Given the description of an element on the screen output the (x, y) to click on. 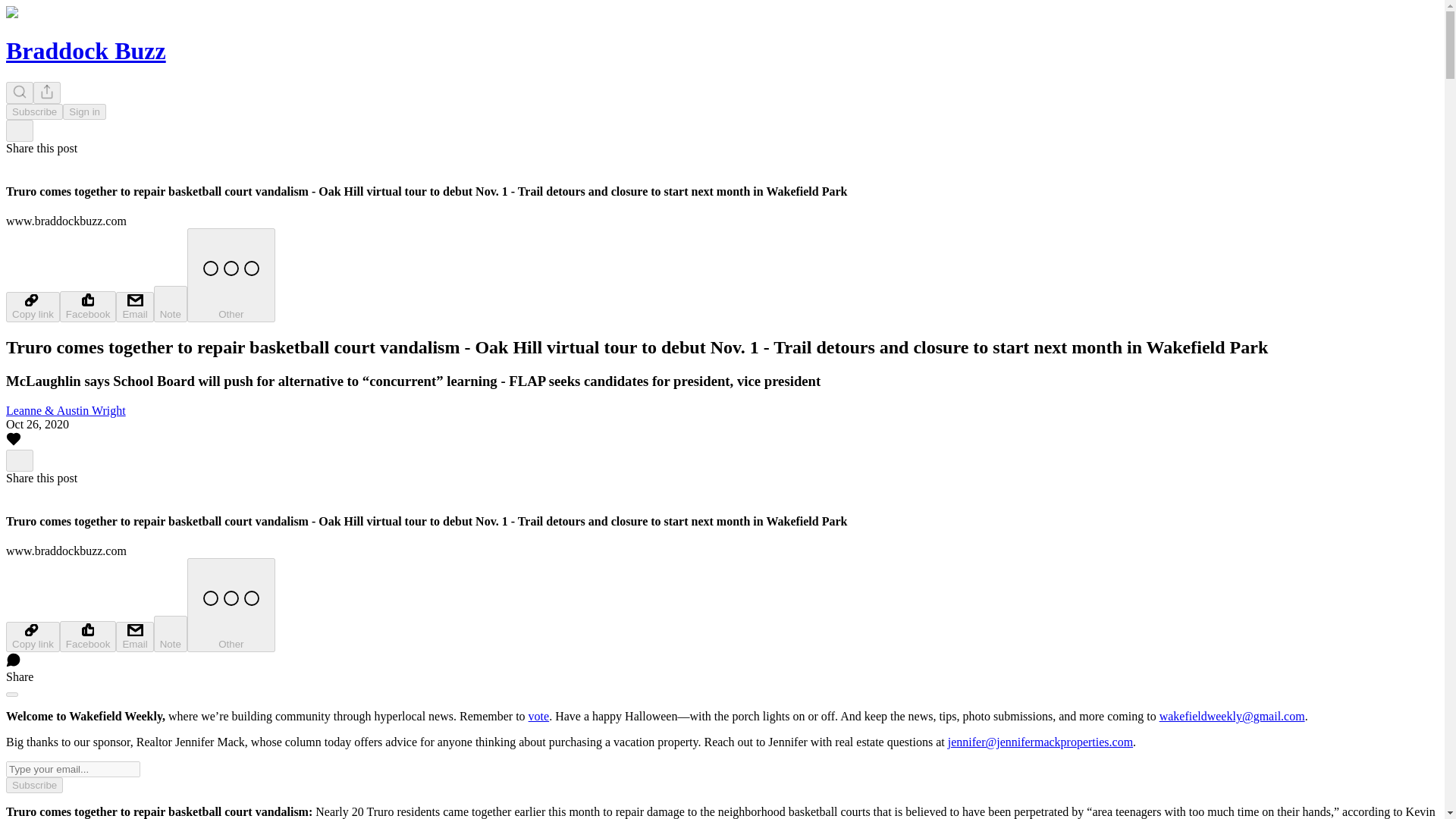
Facebook (87, 635)
Note (170, 633)
Other (231, 275)
Subscribe (33, 785)
Braddock Buzz (85, 50)
Sign in (84, 111)
Facebook (87, 306)
vote (539, 716)
Note (170, 303)
Copy link (32, 306)
